Given the description of an element on the screen output the (x, y) to click on. 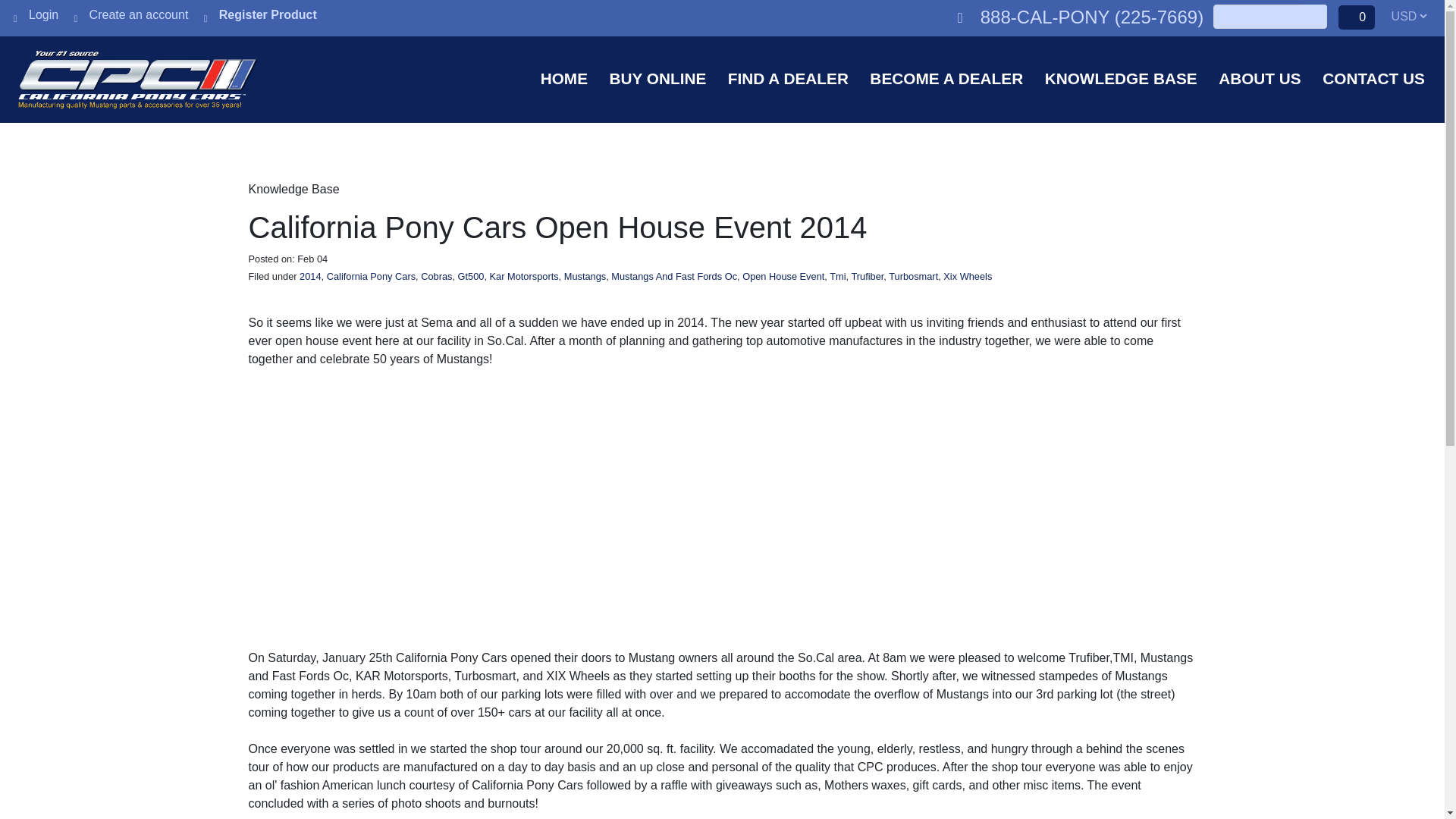
ABOUT US (1259, 77)
CONTACT US (1373, 77)
KNOWLEDGE BASE (1120, 77)
Create an account (131, 14)
FIND A DEALER (788, 77)
0 (1356, 16)
Register Product (260, 14)
HOME (564, 77)
BECOME A DEALER (946, 77)
Login (35, 14)
